Given the description of an element on the screen output the (x, y) to click on. 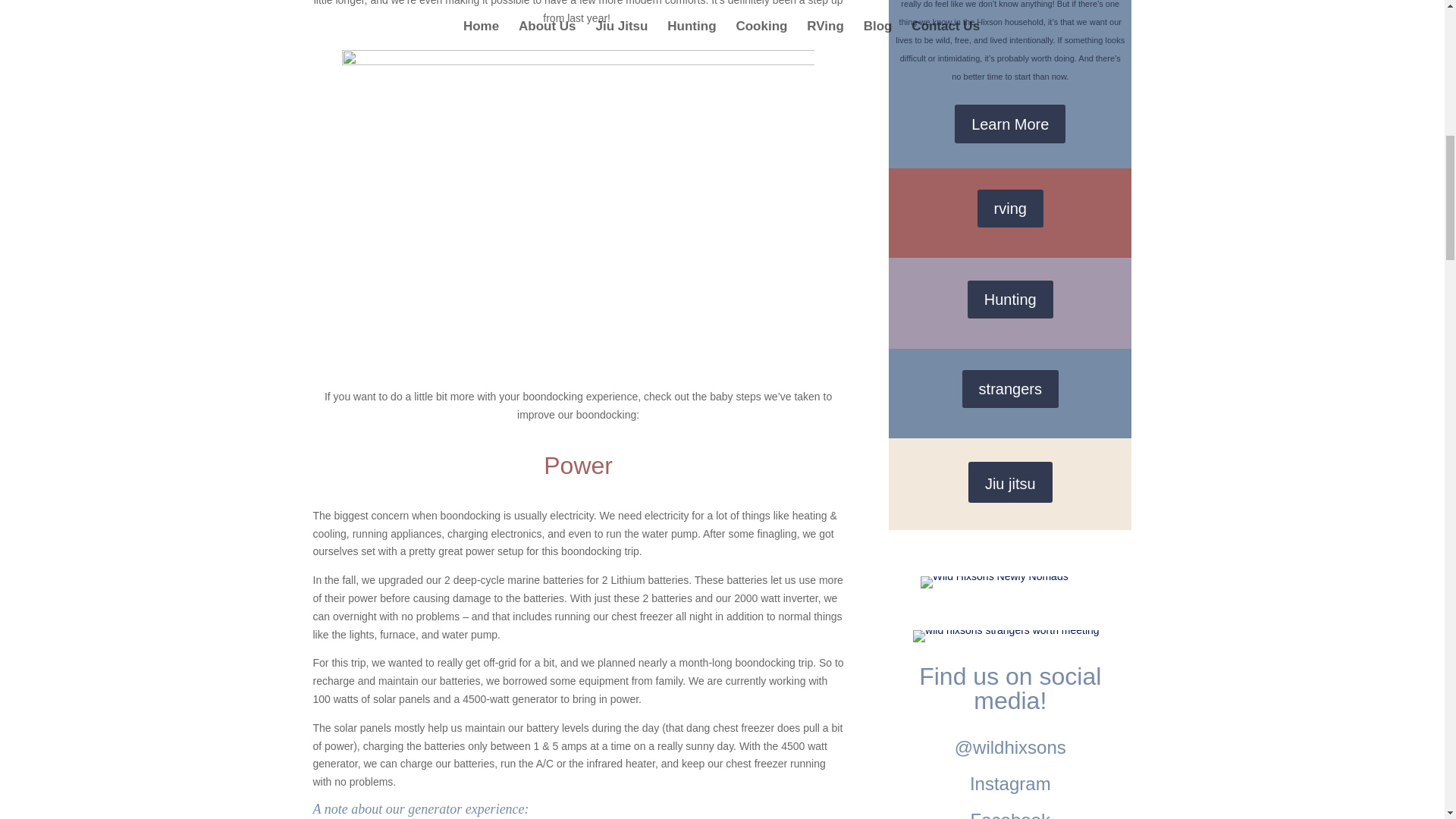
Facebook (1010, 814)
Jiu jitsu (1010, 481)
wild hixsons strangers worth meeting (1005, 635)
strangers (1010, 388)
Instagram (1010, 783)
Hunting (1010, 299)
rving (1009, 208)
Newly Nomads Graphic (994, 582)
Learn More (1010, 123)
